Given the description of an element on the screen output the (x, y) to click on. 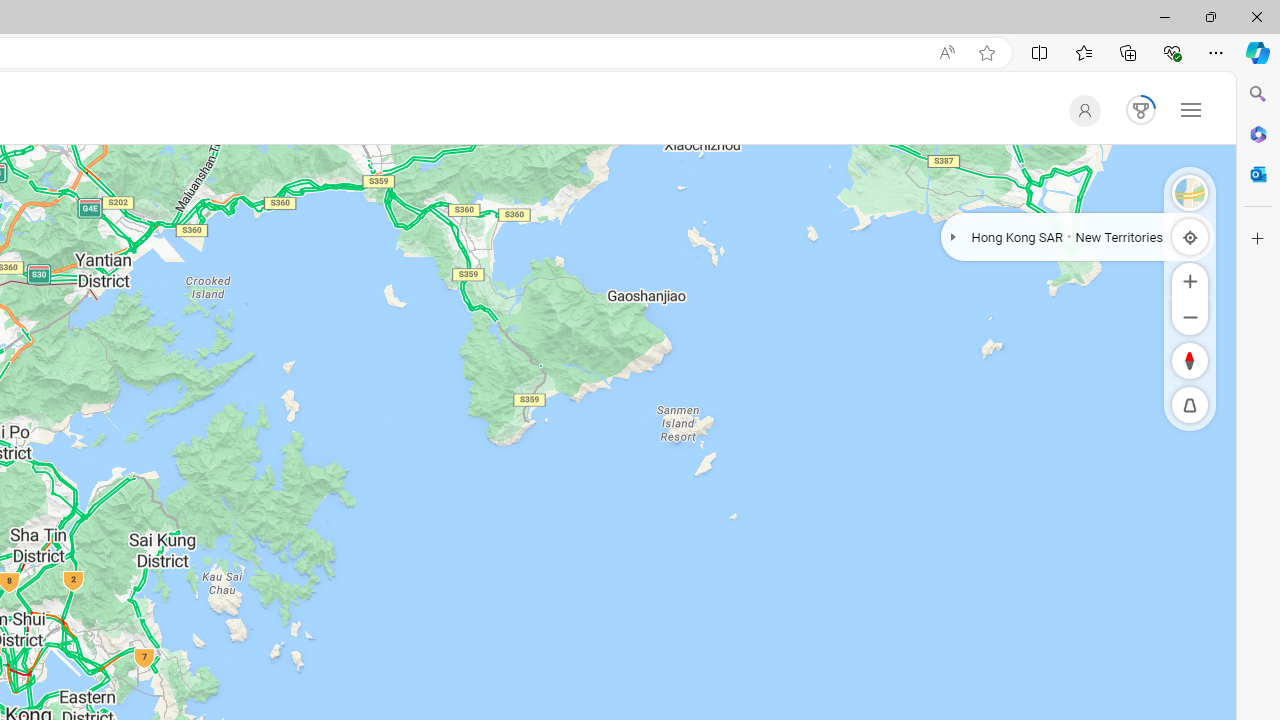
Reset to Default Rotation (1190, 360)
Streetside (1190, 192)
Zoom Out (1190, 316)
Locate me (1190, 236)
Microsoft Rewards  (1136, 110)
Reset to Default Pitch (1190, 405)
Zoom In (1190, 280)
AutomationID: id_l (1080, 110)
Bird's eye (1190, 192)
